Given the description of an element on the screen output the (x, y) to click on. 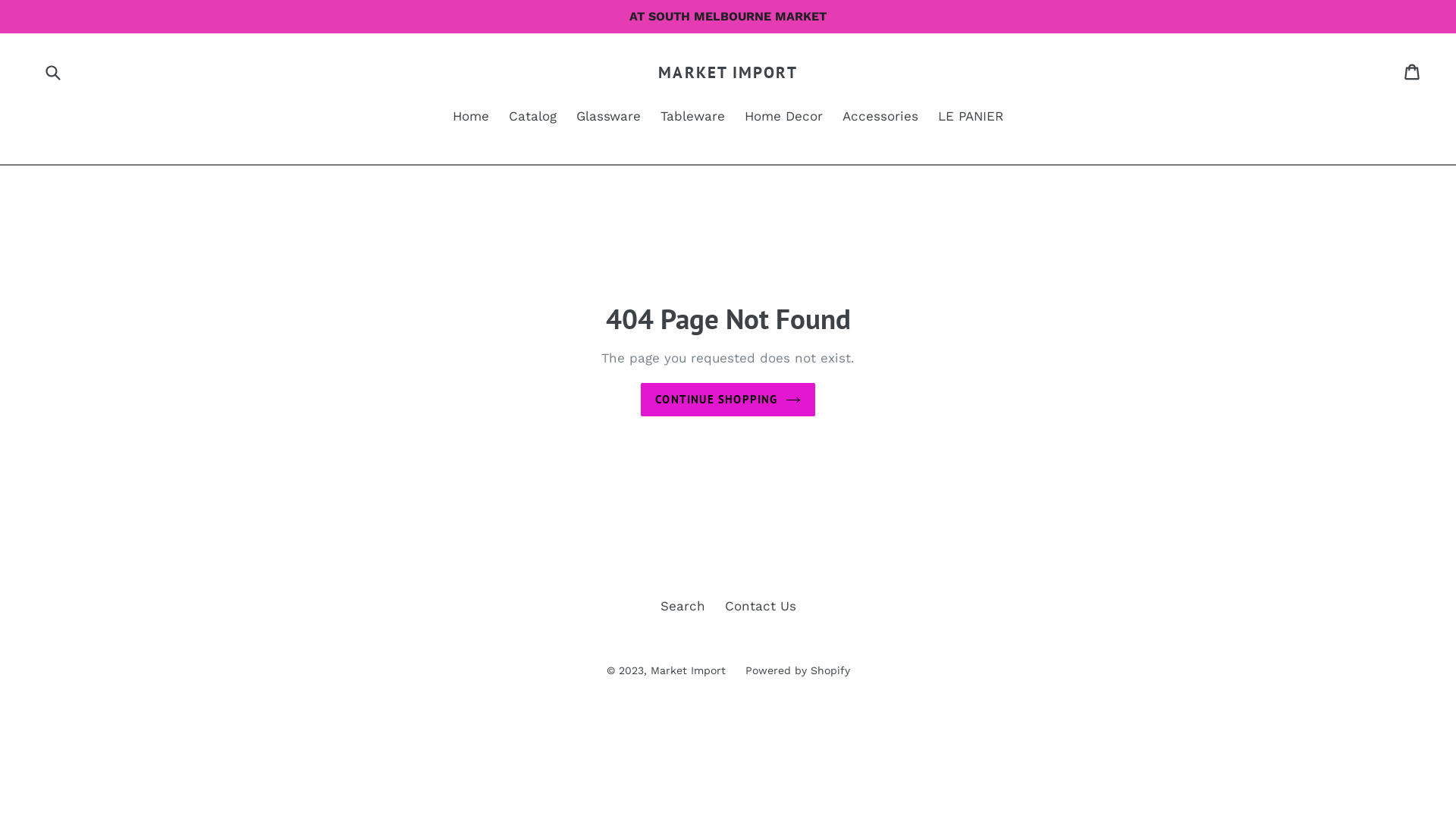
LE PANIER Element type: text (970, 117)
Home Decor Element type: text (783, 117)
Tableware Element type: text (692, 117)
Submit Element type: text (51, 71)
Accessories Element type: text (879, 117)
Market Import Element type: text (687, 670)
MARKET IMPORT Element type: text (727, 71)
Contact Us Element type: text (760, 605)
Home Element type: text (470, 117)
Powered by Shopify Element type: text (796, 670)
Cart Element type: text (1412, 71)
Glassware Element type: text (608, 117)
Catalog Element type: text (532, 117)
Search Element type: text (681, 605)
CONTINUE SHOPPING Element type: text (727, 399)
